Given the description of an element on the screen output the (x, y) to click on. 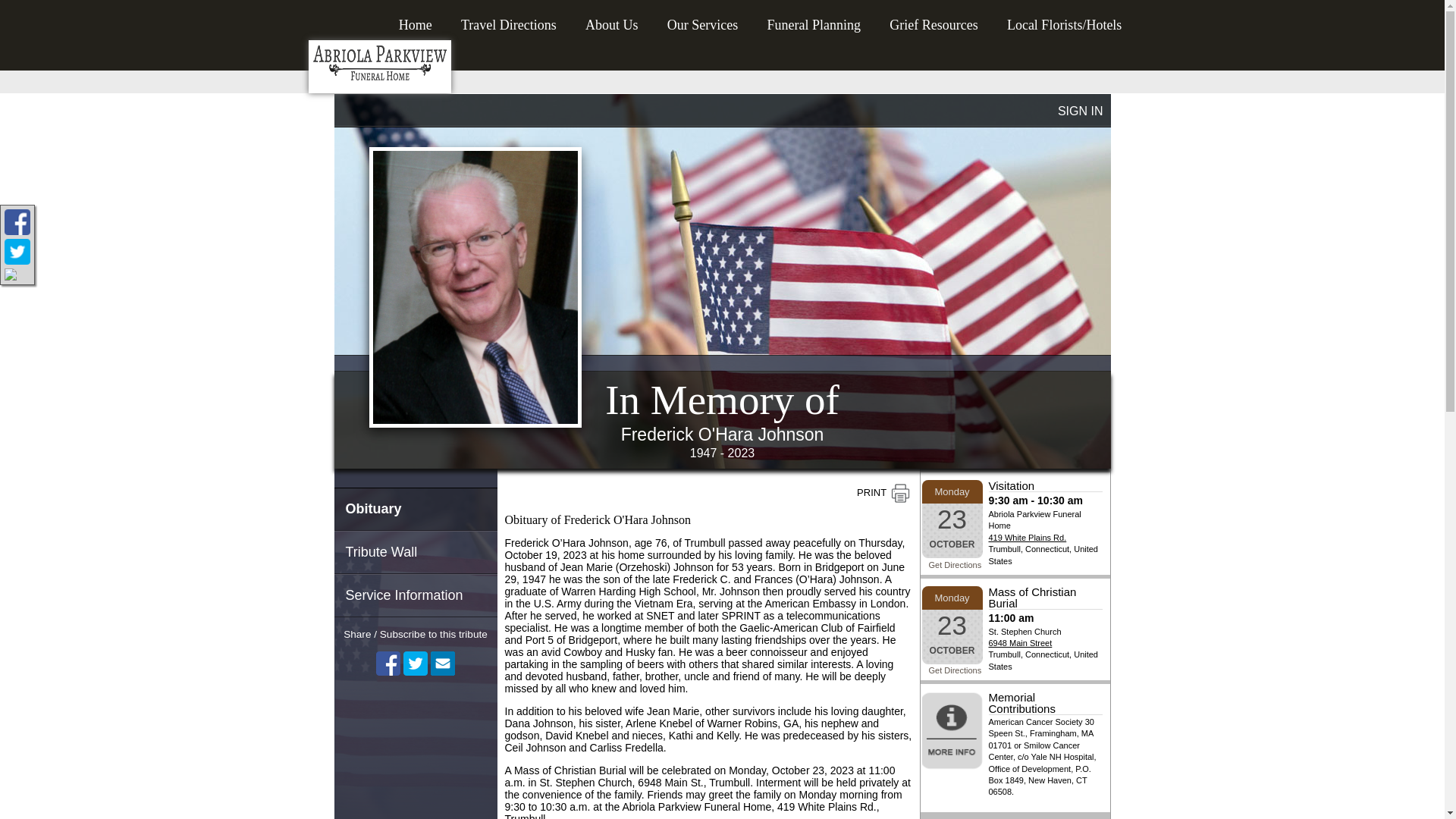
Grief Resources (933, 20)
Receive Notifications (442, 663)
Our Services (702, 20)
SIGN IN (1080, 110)
Travel Directions (508, 20)
Facebook (387, 663)
Service Information (414, 595)
Obituary (414, 508)
Tribute Wall (414, 552)
Twitter (415, 663)
